Given the description of an element on the screen output the (x, y) to click on. 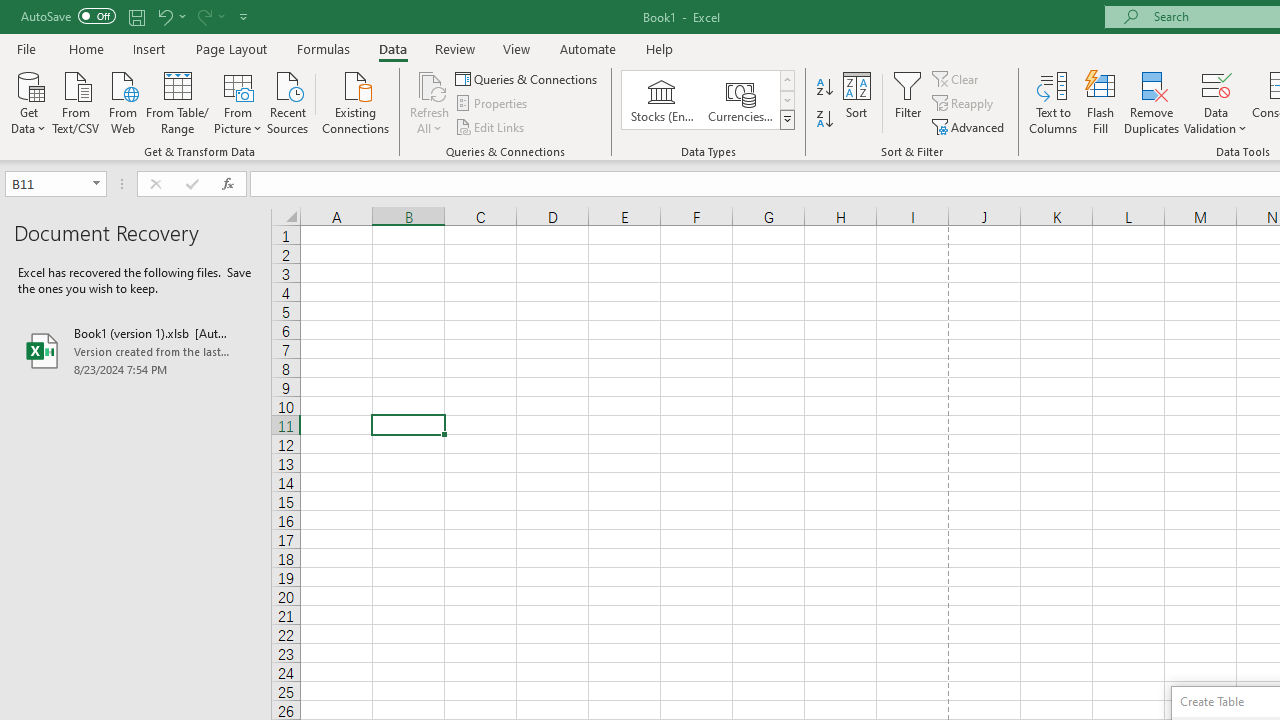
Sort... (856, 102)
Properties (492, 103)
Reapply (964, 103)
From Picture (238, 101)
Remove Duplicates (1151, 102)
